Given the description of an element on the screen output the (x, y) to click on. 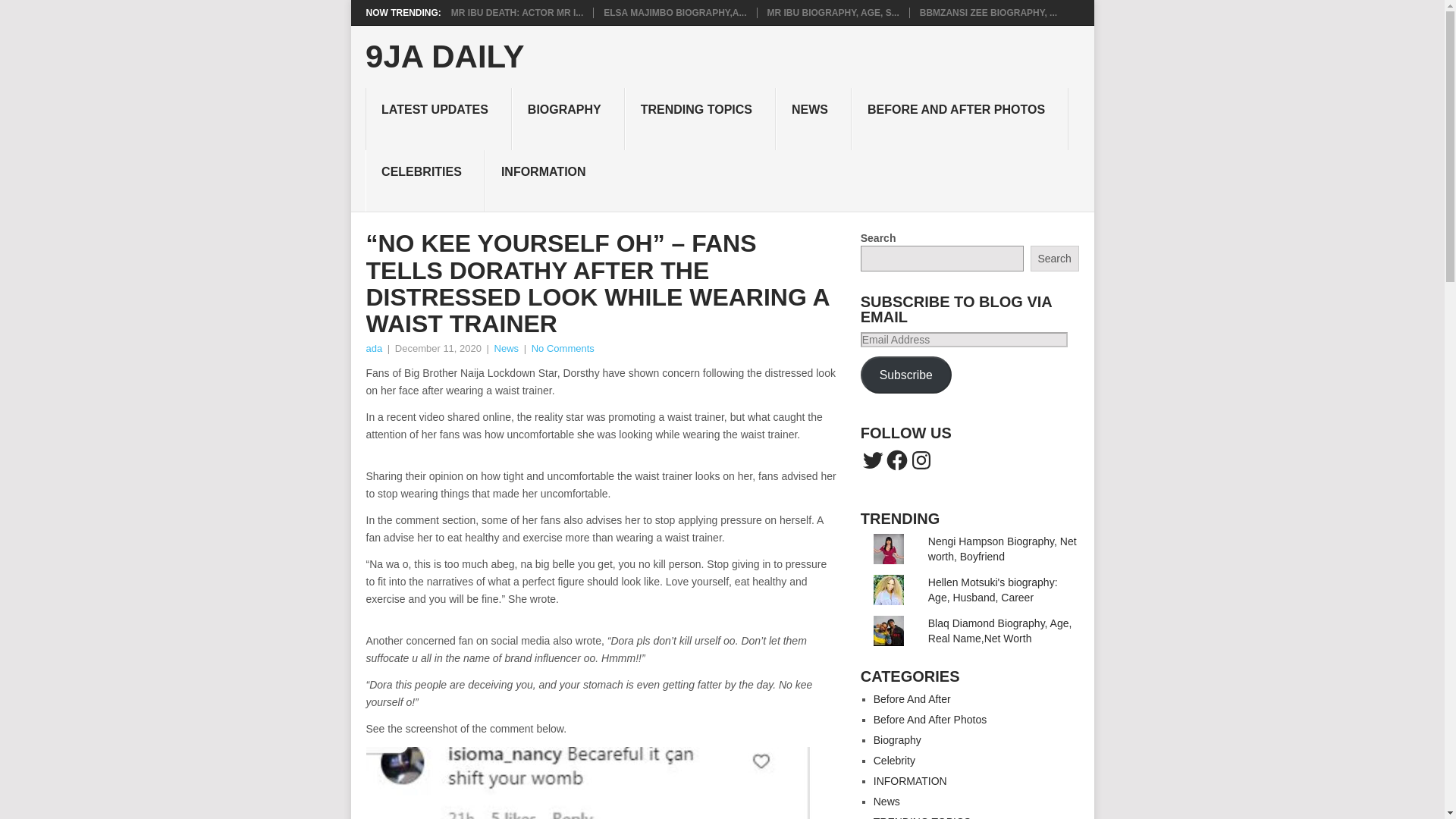
9JA DAILY (444, 56)
BIOGRAPHY (568, 118)
Blaq Diamond Biography, Age, Real Name,Net Worth (999, 630)
No Comments (562, 348)
Before And After Photos (930, 719)
Posts by ada (373, 348)
ada (373, 348)
Facebook (896, 459)
Twitter (872, 459)
Hellen Motsuki's biography: Age, Husband, Career (993, 589)
ELSA MAJIMBO BIOGRAPHY,A... (674, 12)
LATEST UPDATES (438, 118)
CELEBRITIES (424, 180)
Nengi Hampson Biography, Net worth, Boyfriend (1002, 548)
NEWS (813, 118)
